Given the description of an element on the screen output the (x, y) to click on. 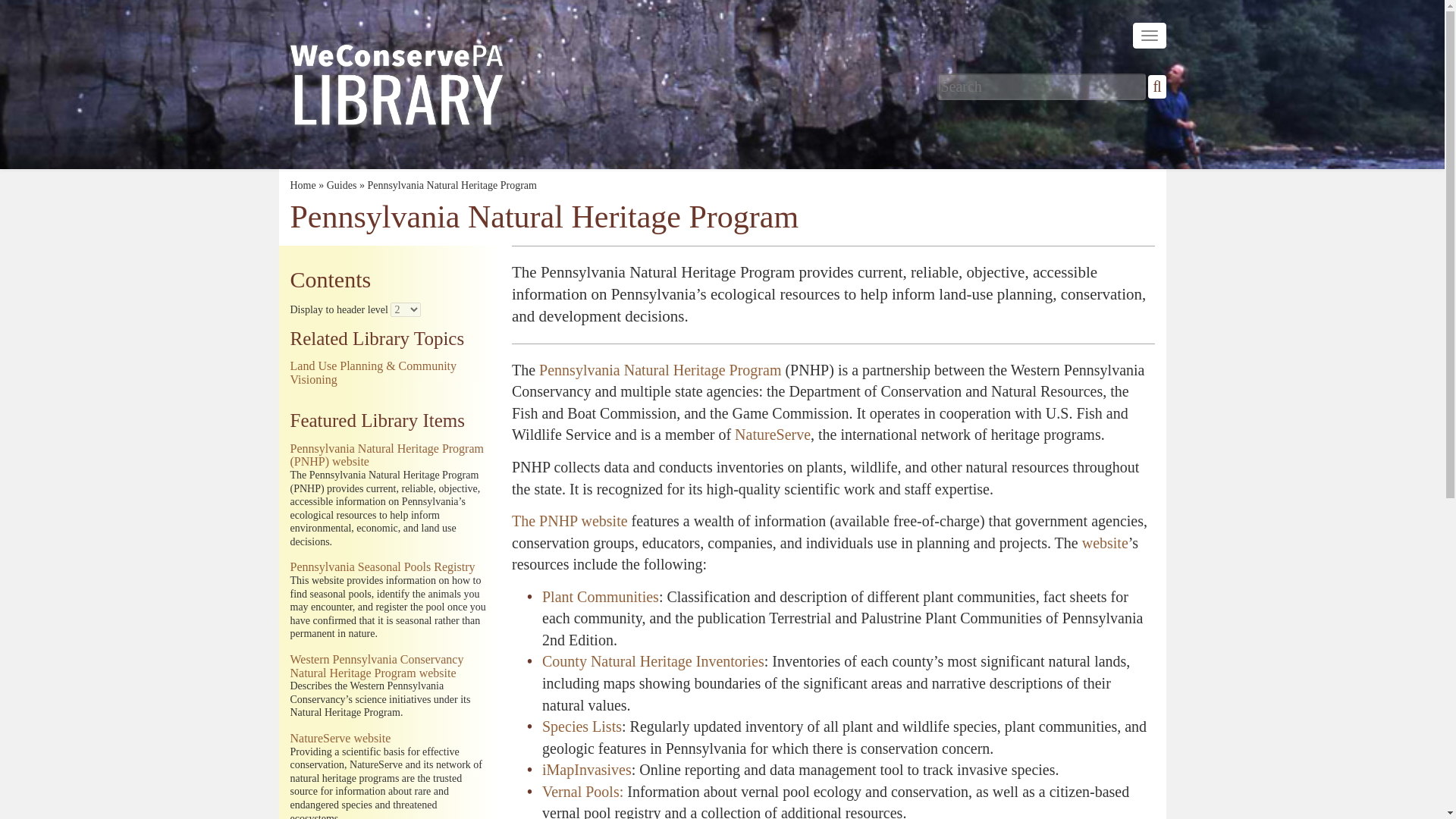
NatureServe (772, 434)
Guides (341, 184)
Pennsylvania Natural Heritage Program (659, 369)
The PNHP website (569, 520)
Home (302, 184)
iMapInvasives (586, 769)
Plant Communities (600, 596)
website (1104, 542)
NatureServe website (339, 738)
Pennsylvania Seasonal Pools Registry (381, 566)
Vernal Pools: (582, 791)
Species Lists (581, 726)
County Natural Heritage Inventories (652, 660)
